Given the description of an element on the screen output the (x, y) to click on. 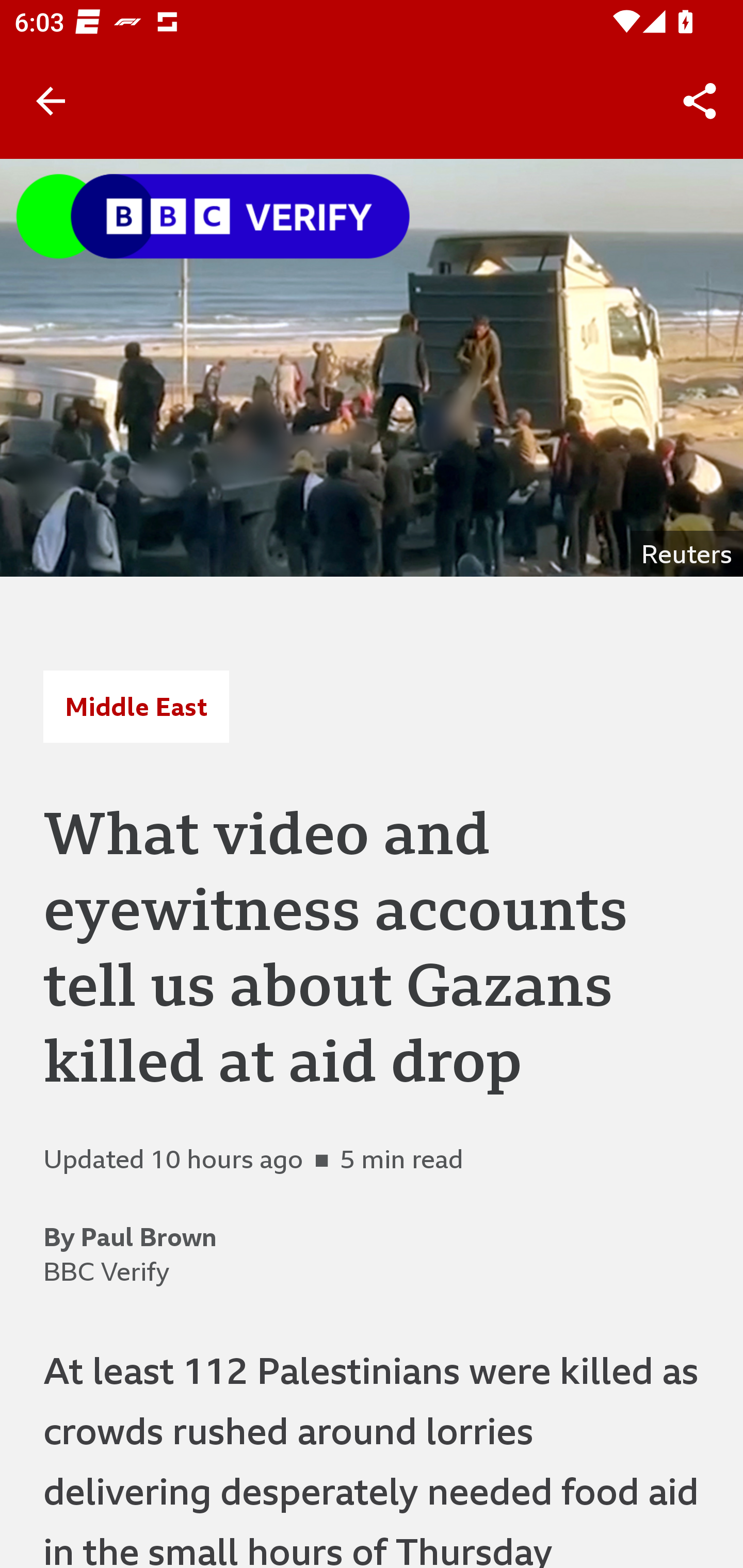
Back (50, 101)
Share (699, 101)
Middle East (135, 706)
